Given the description of an element on the screen output the (x, y) to click on. 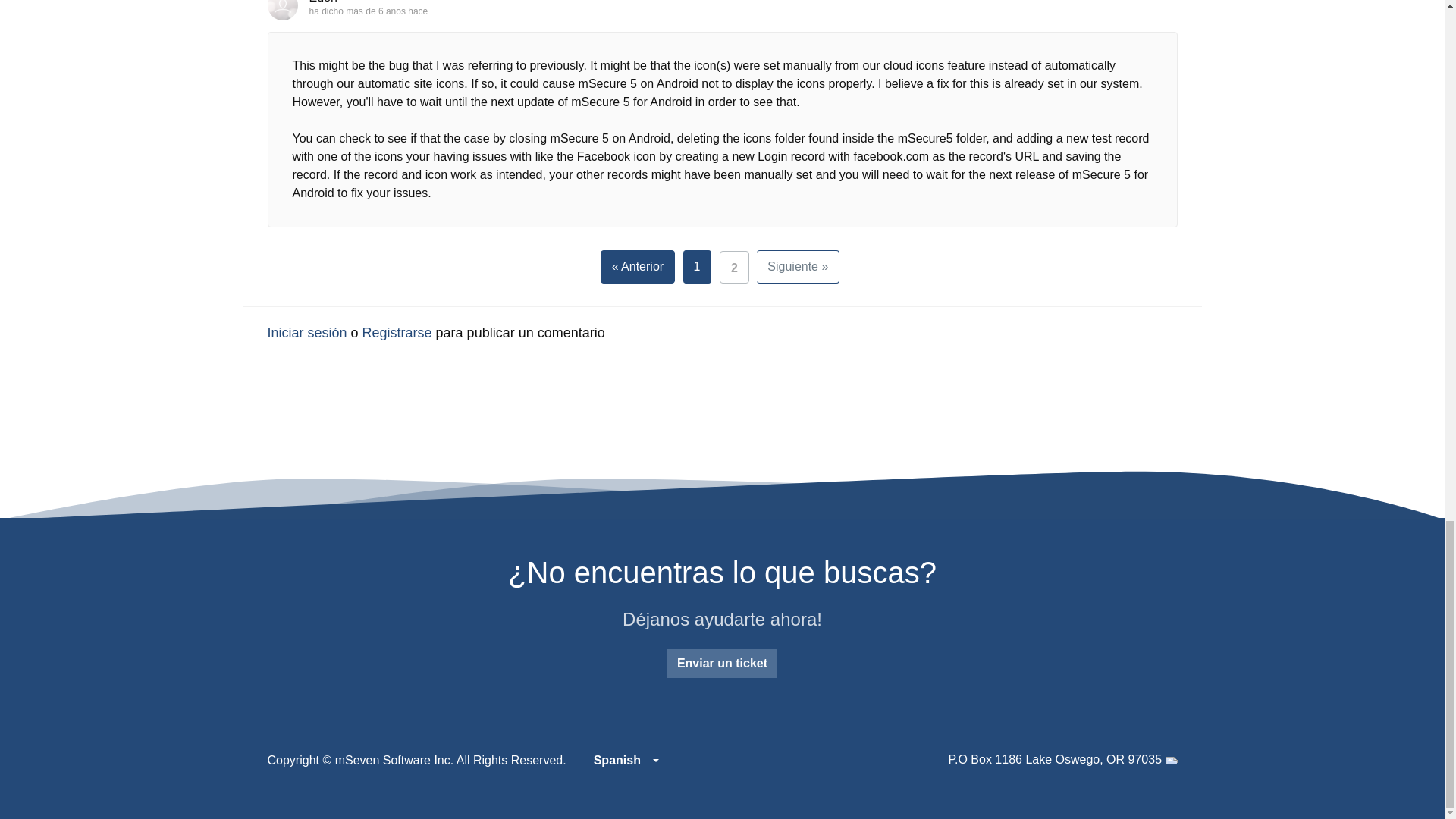
2 (734, 266)
Lun, Mar 5, 2018 a  2:28 P. M. (387, 10)
Registrarse (397, 332)
Enviar un ticket (721, 662)
